Given the description of an element on the screen output the (x, y) to click on. 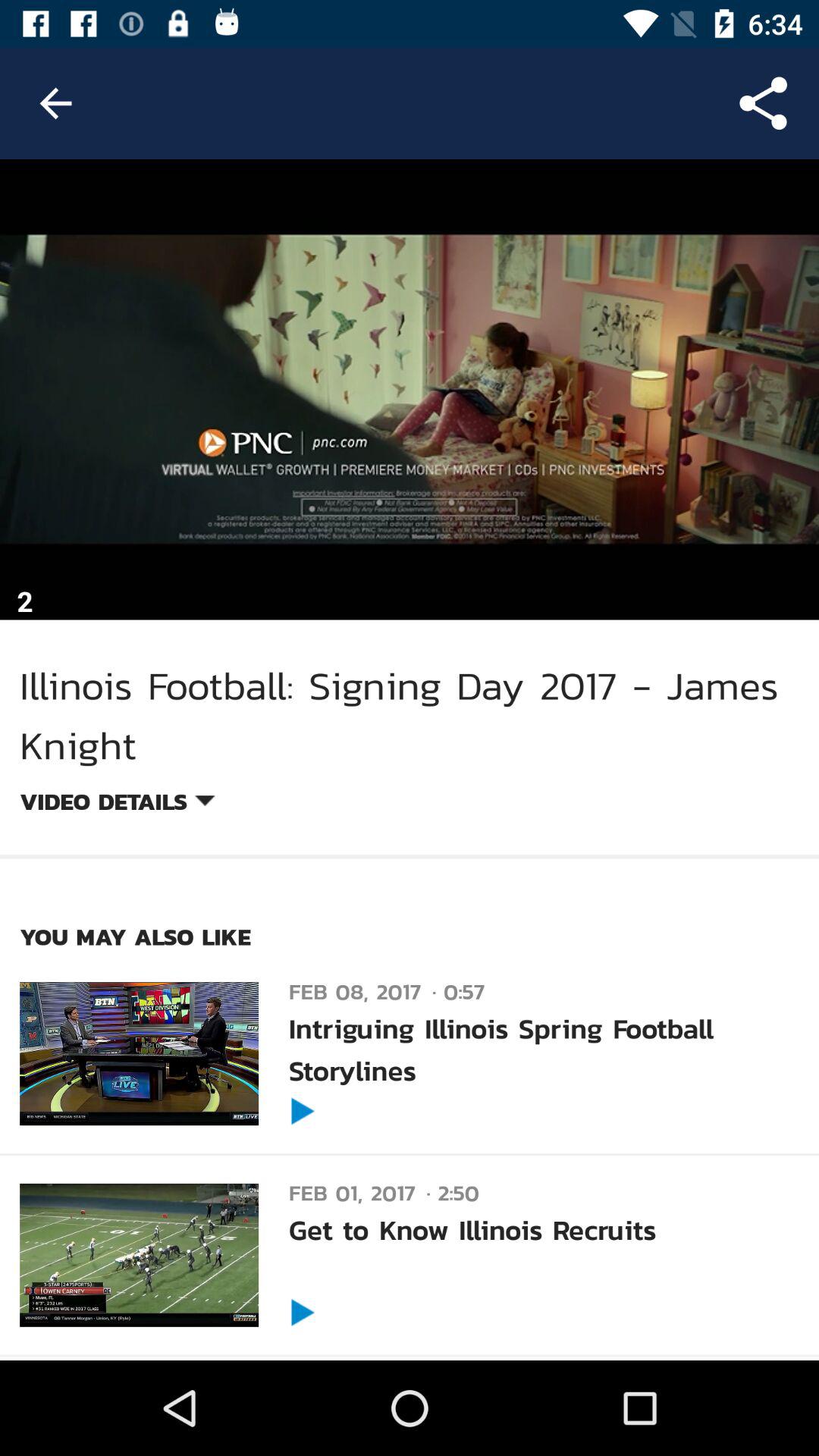
choose item below illinois football signing item (116, 803)
